Given the description of an element on the screen output the (x, y) to click on. 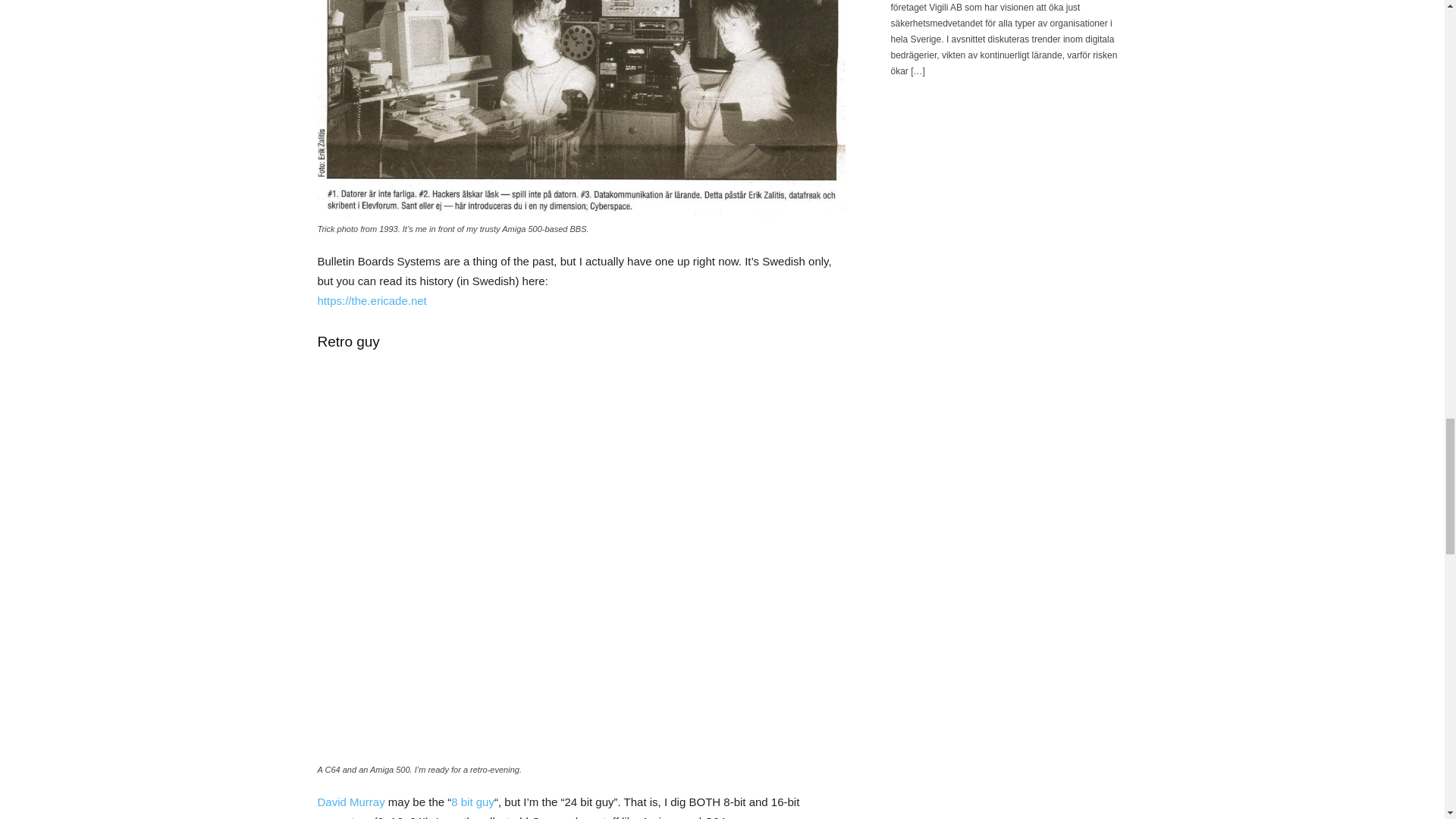
David Murray  (352, 801)
8 bit guy (473, 801)
